Given the description of an element on the screen output the (x, y) to click on. 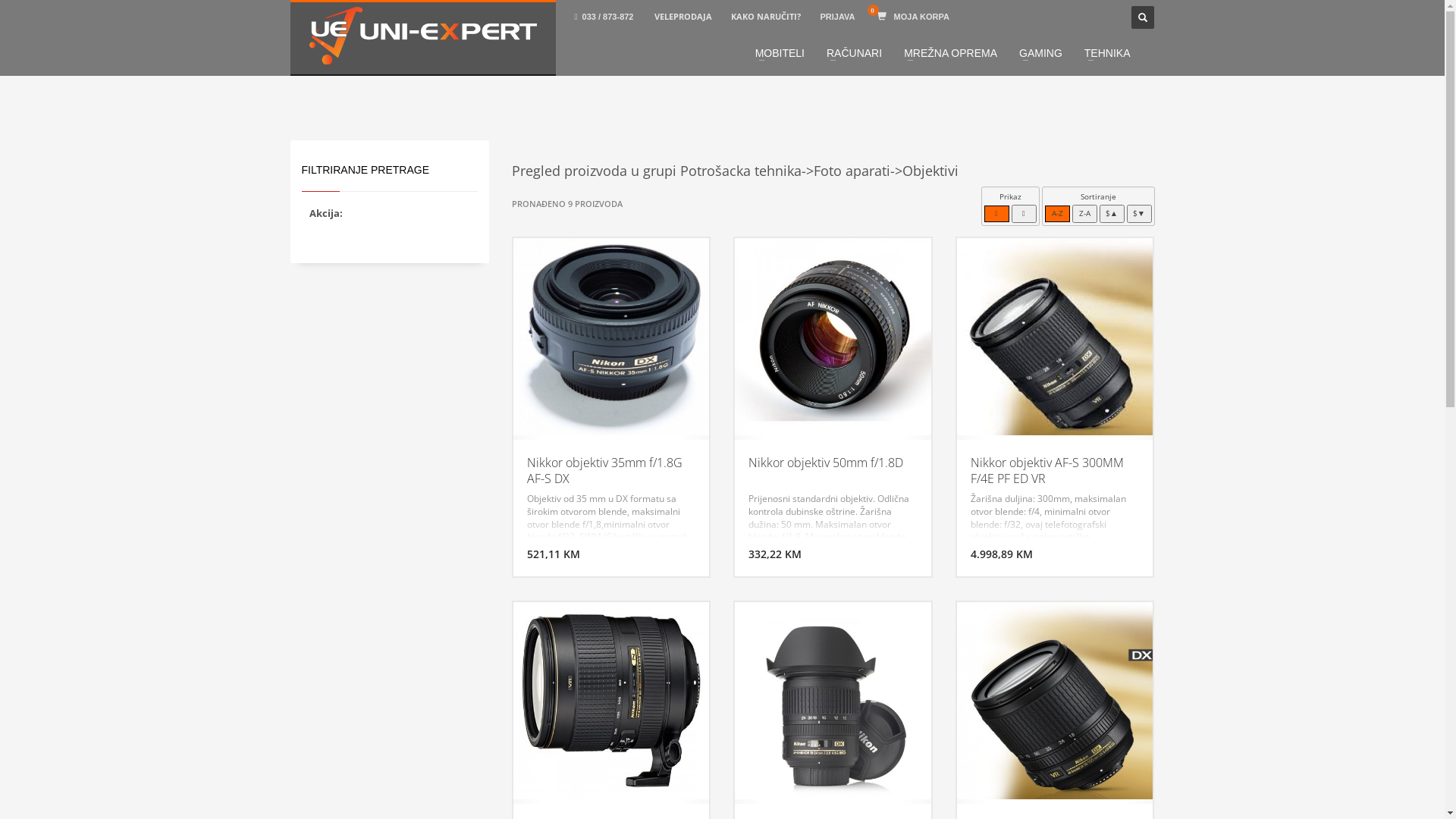
MOJA KORPA Element type: text (913, 16)
Nikkor objektiv AF-S DX 18-105mmf/3.5-5.6G VR Element type: hover (1054, 699)
PRIJAVA Element type: text (837, 16)
Nikkor objektiv 50mm f/1.8D Element type: hover (832, 335)
Nikkor objektiv 35mm f/1.8G AF-S DX Element type: hover (610, 335)
TEHNIKA Element type: text (1107, 52)
Nikkor objektiv AF-S 300MM F/4E PF ED VR  Element type: hover (1054, 335)
GAMING Element type: text (1040, 52)
VELEPRODAJA Element type: text (683, 16)
PRIJAVA Element type: text (836, 16)
Z-A Element type: text (1084, 213)
Nikkor objektiv AF-S DX 10-24mm F/3.5-4.5G ED Element type: hover (832, 699)
A-Z Element type: text (1057, 213)
MOBITELI Element type: text (779, 52)
